Given the description of an element on the screen output the (x, y) to click on. 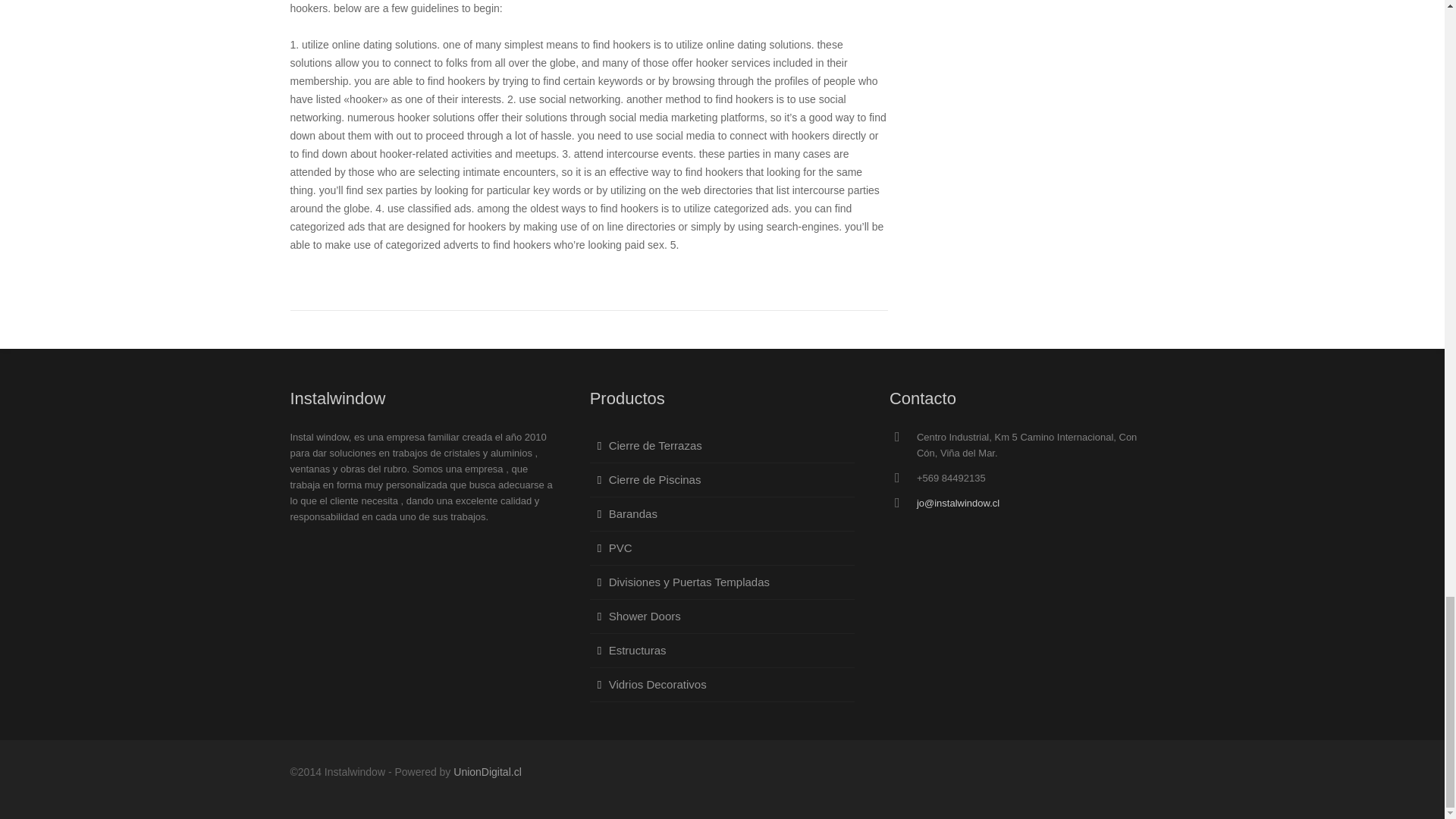
UnionDigital.cl (486, 771)
Cierre de Terrazas (722, 446)
PVC (722, 548)
Divisiones y Puertas Templadas (722, 582)
Estructuras (722, 650)
Vidrios Decorativos (722, 684)
Barandas (722, 514)
Cierre de Piscinas (722, 480)
Shower Doors (722, 616)
